Given the description of an element on the screen output the (x, y) to click on. 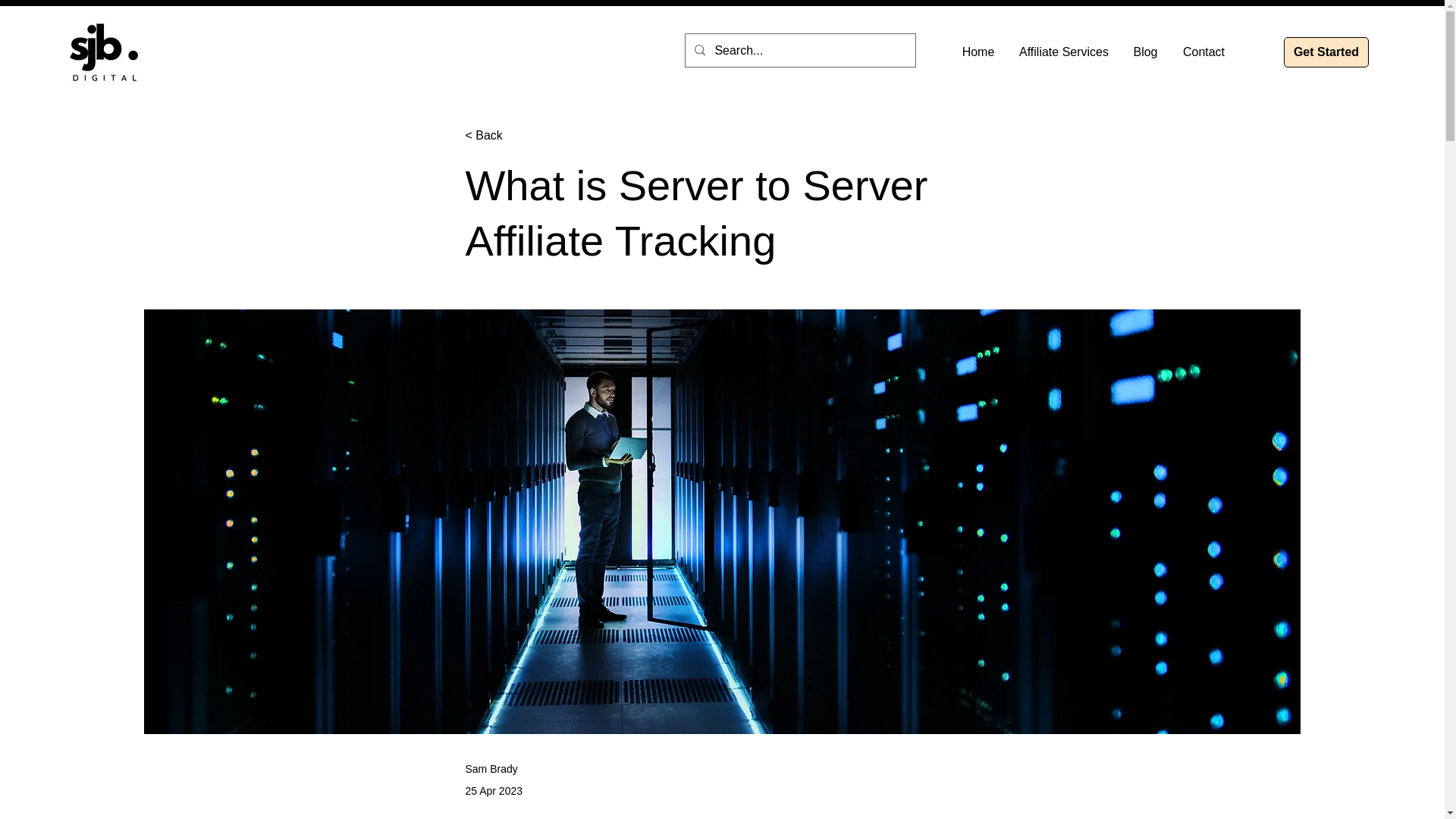
Home (978, 52)
Contact (1204, 52)
Get Started (1326, 51)
Affiliate Services (1063, 52)
Blog (1145, 52)
